Given the description of an element on the screen output the (x, y) to click on. 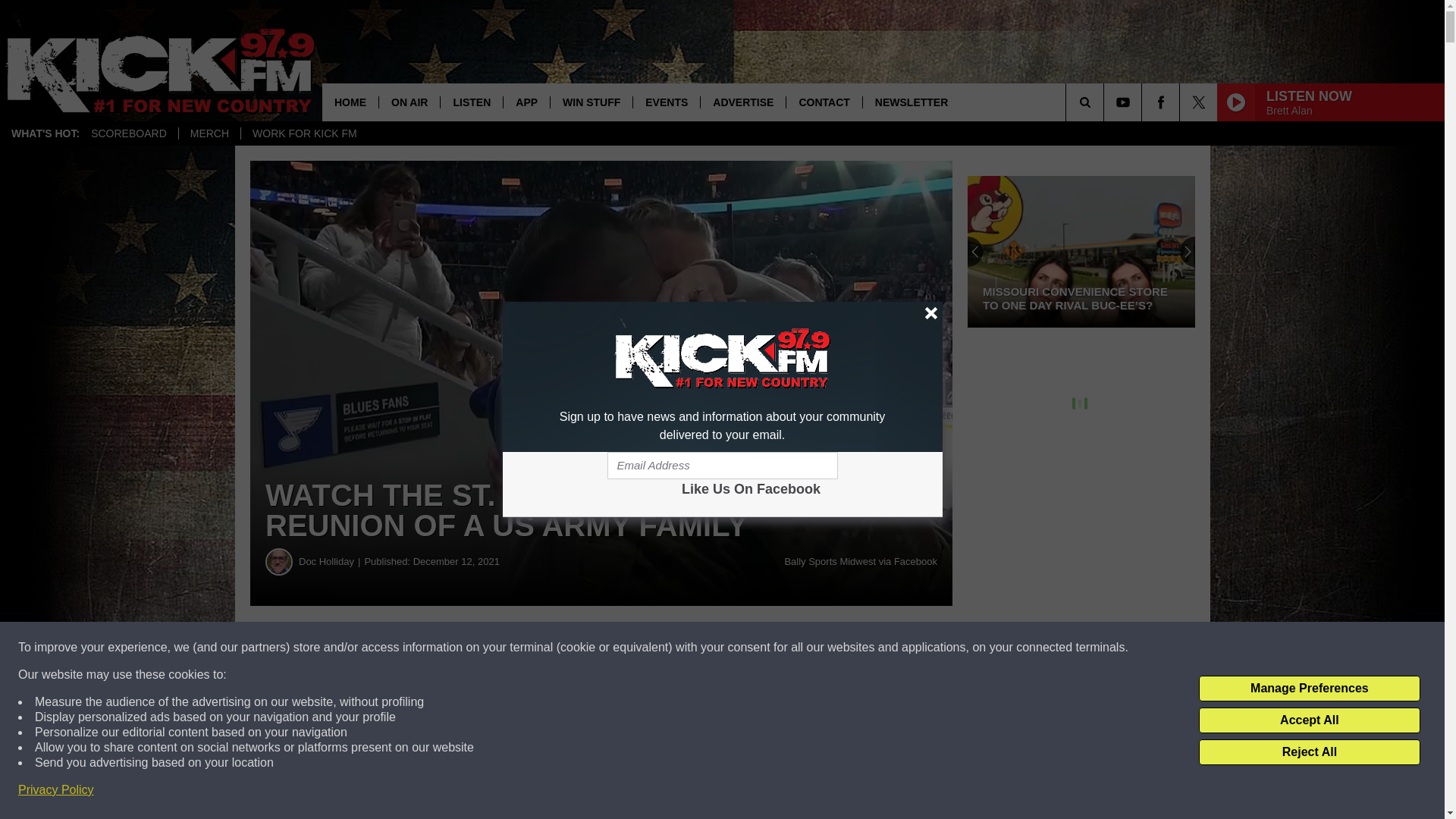
Accept All (1309, 720)
SCOREBOARD (128, 133)
Privacy Policy (55, 789)
WIN STUFF (590, 102)
APP (526, 102)
ADVERTISE (743, 102)
SEARCH (1106, 102)
HOME (349, 102)
CONTACT (823, 102)
WORK FOR KICK FM (304, 133)
Share on Facebook (460, 647)
EVENTS (665, 102)
SEARCH (1106, 102)
Share on Twitter (741, 647)
Reject All (1309, 751)
